Given the description of an element on the screen output the (x, y) to click on. 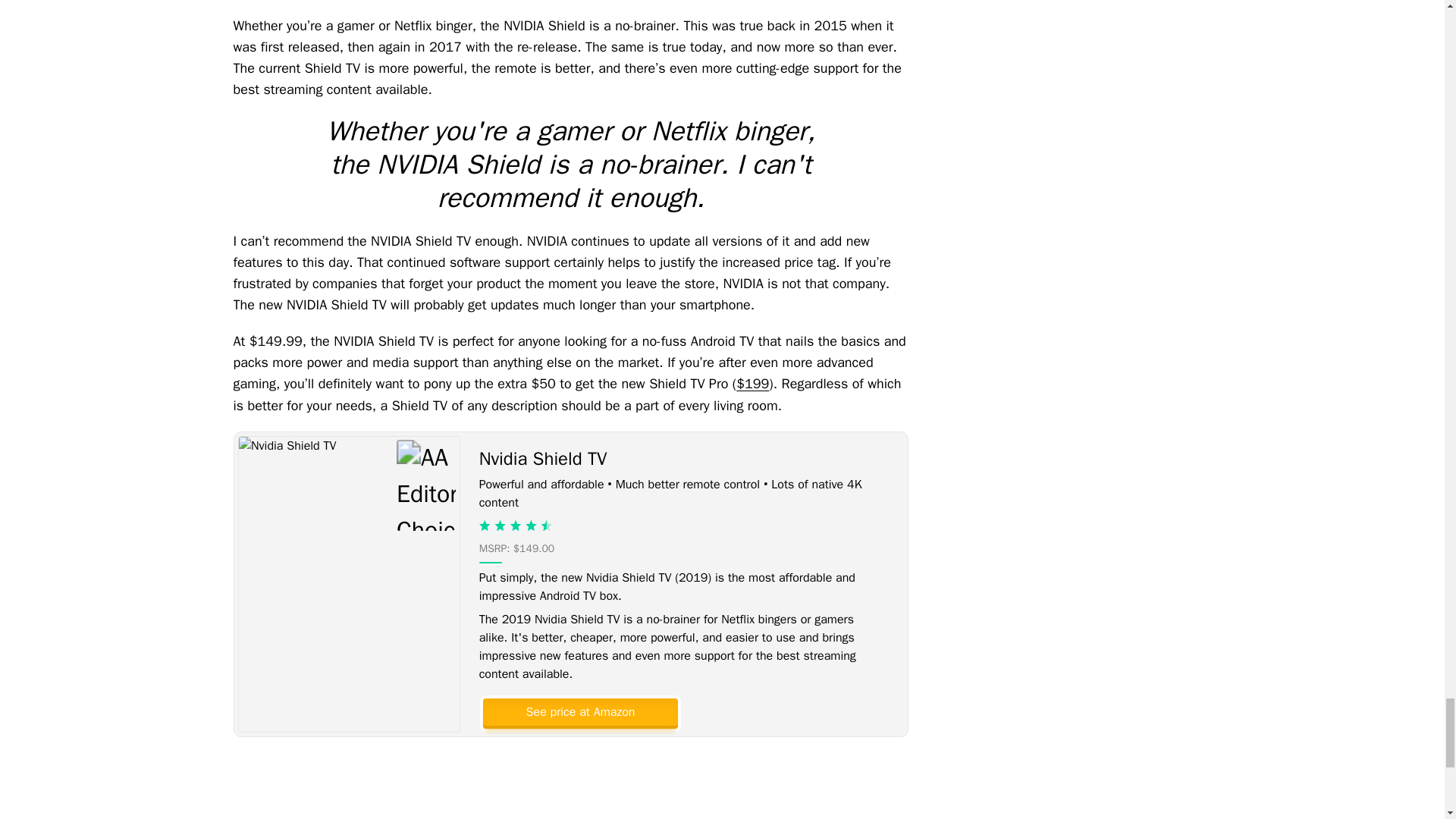
See price at Amazon (579, 711)
